Given the description of an element on the screen output the (x, y) to click on. 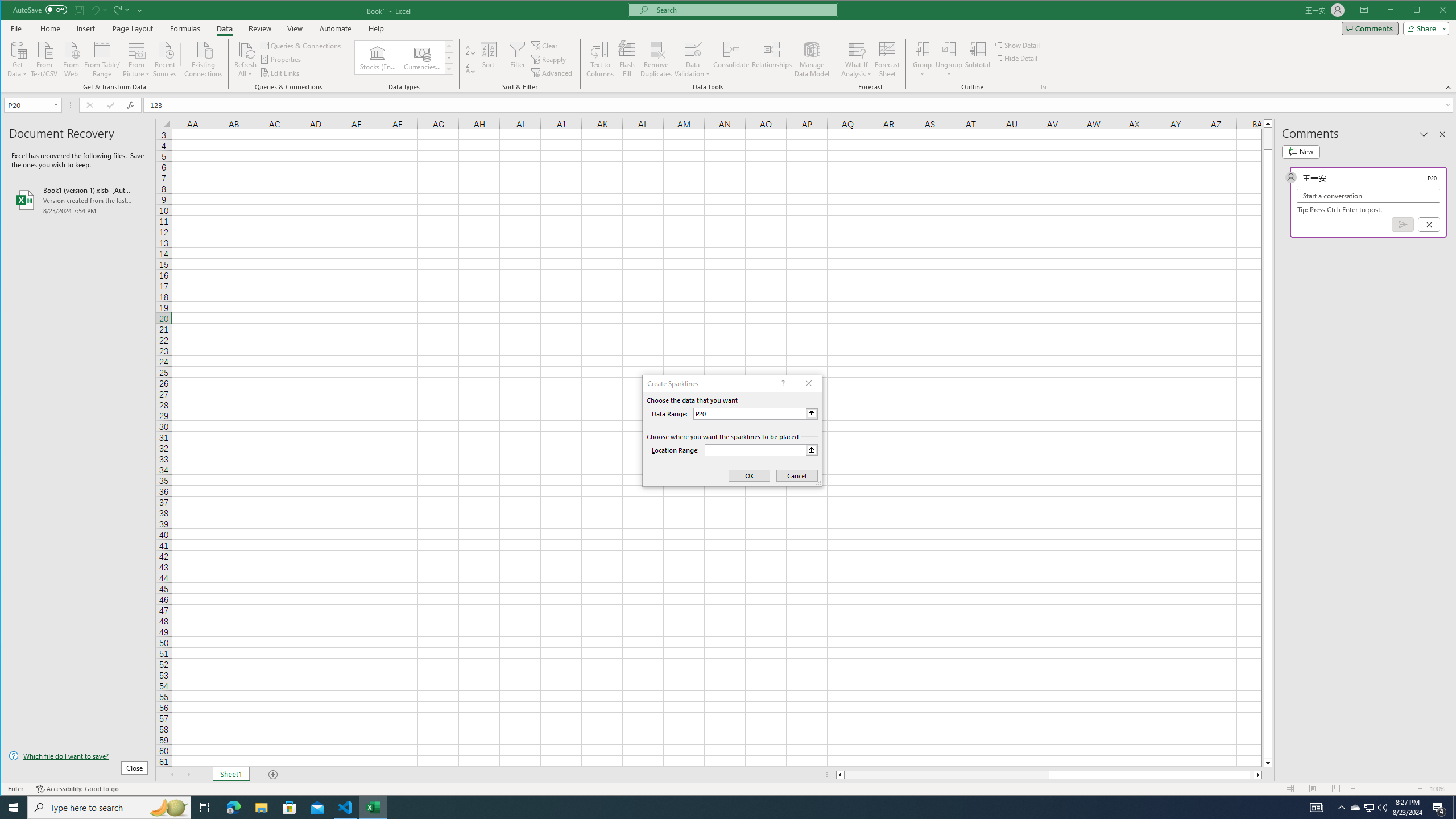
Start a conversation (1368, 195)
Row up (448, 46)
Automate (336, 28)
Data Validation... (691, 59)
Recent Sources (164, 57)
Flash Fill (627, 59)
Filter (517, 59)
Cancel (1428, 224)
Manage Data Model (812, 59)
